Given the description of an element on the screen output the (x, y) to click on. 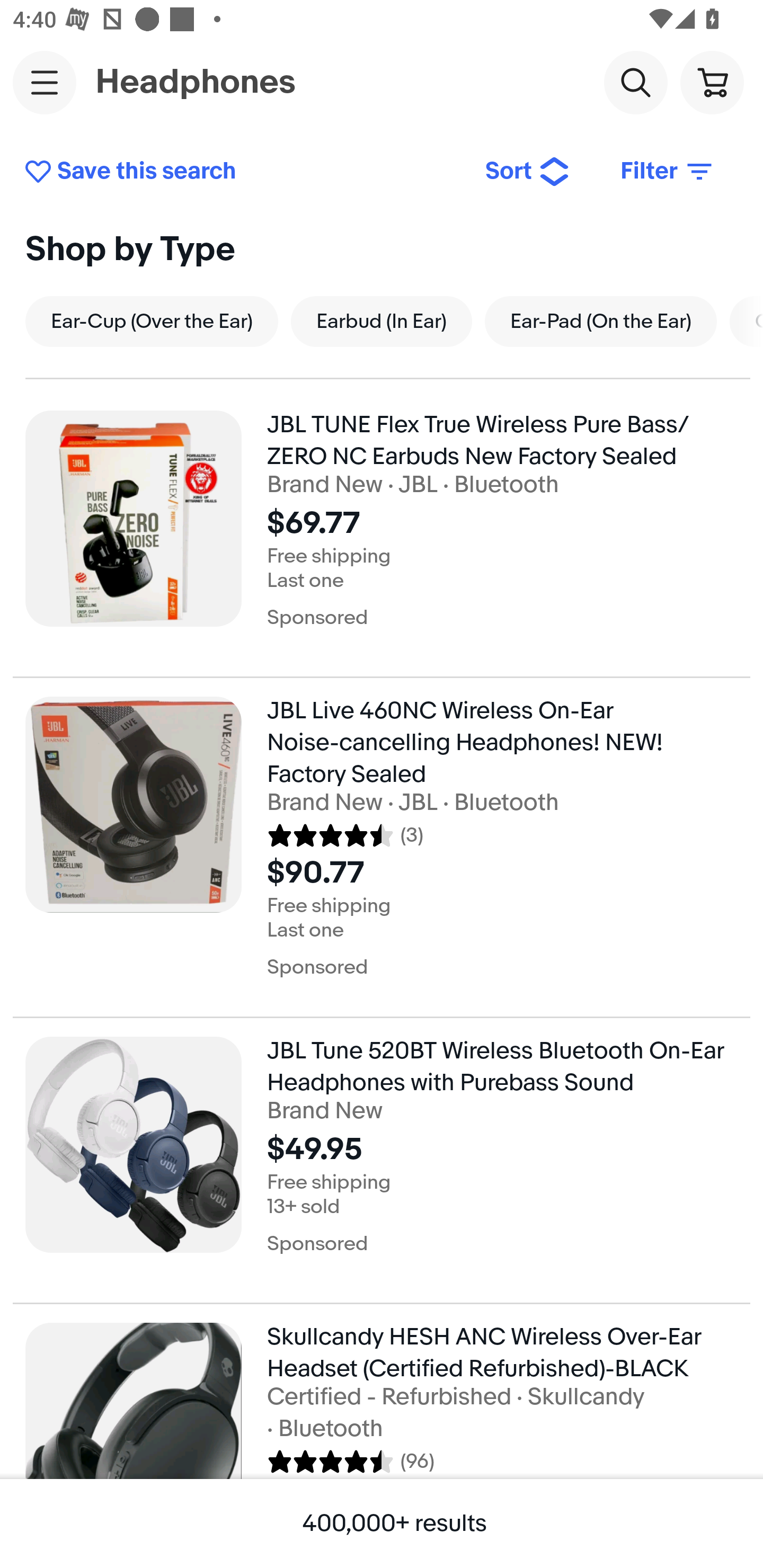
Main navigation, open (44, 82)
Search (635, 81)
Cart button shopping cart (711, 81)
Save this search (241, 171)
Sort (527, 171)
Filter (667, 171)
Earbud (In Ear) Earbud (In Ear), Type (381, 321)
Ear-Pad (On the Ear) Ear-Pad (On the Ear), Type (600, 321)
